Given the description of an element on the screen output the (x, y) to click on. 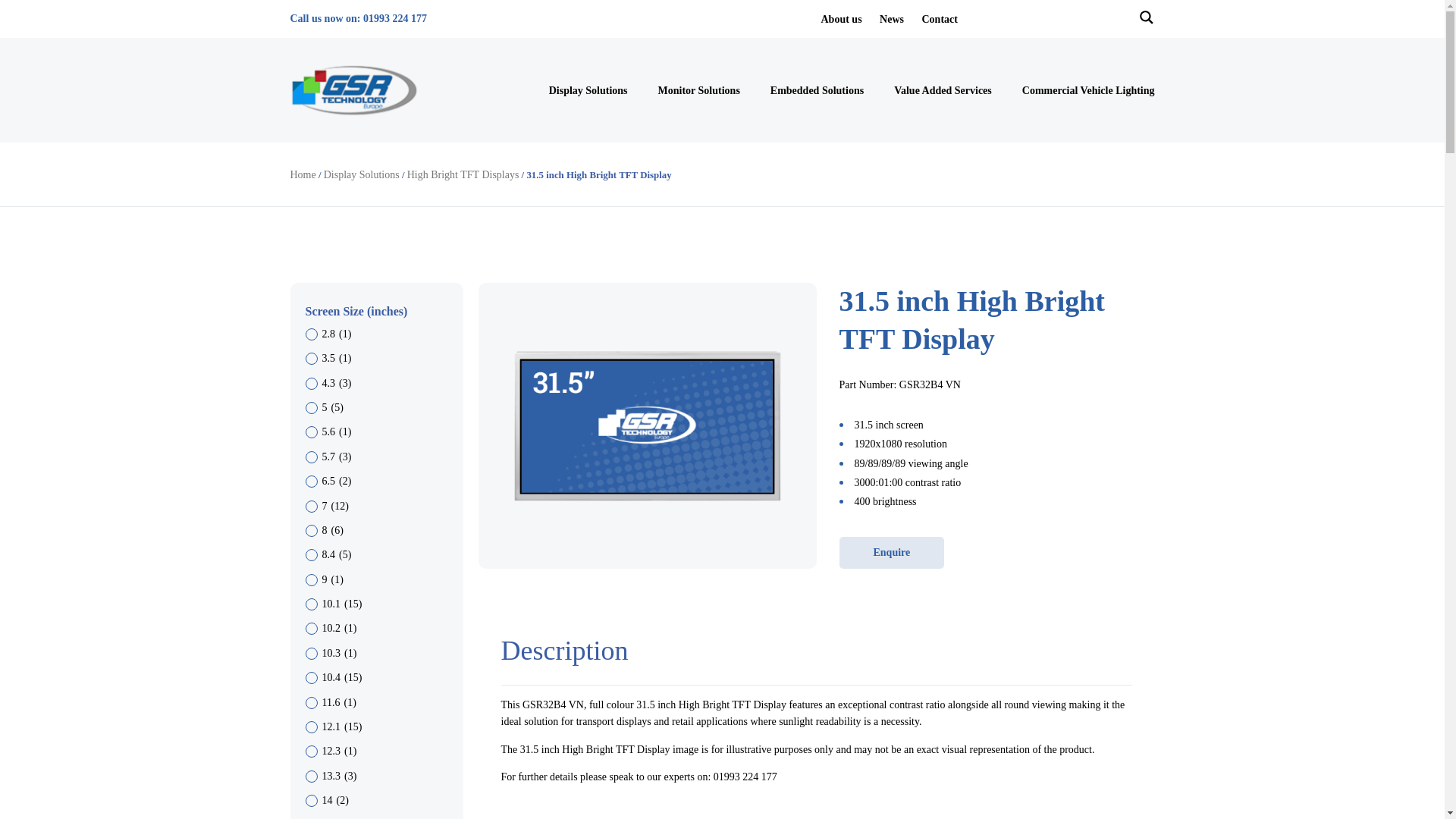
Embedded Solutions (816, 89)
About us (841, 19)
Monitor Solutions (698, 89)
Enquire (890, 552)
News (891, 19)
Contact (938, 19)
Commercial Vehicle Lighting (1088, 89)
01993 224 177 (394, 18)
Display Solutions (587, 89)
High Bright TFT Displays (463, 174)
Home (302, 174)
Display Solutions (360, 174)
Value Added Services (942, 89)
